Given the description of an element on the screen output the (x, y) to click on. 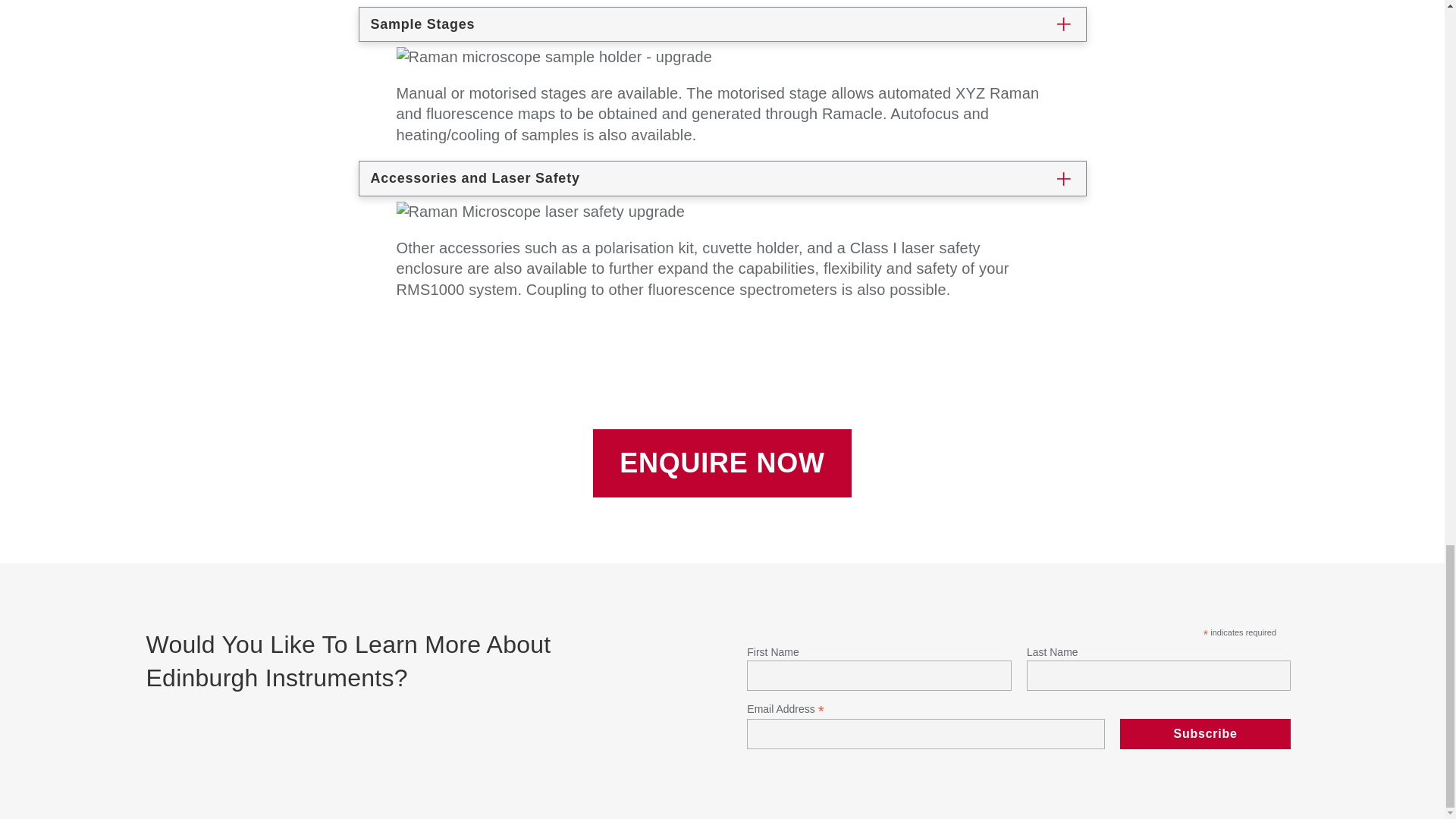
Subscribe (1205, 734)
